Given the description of an element on the screen output the (x, y) to click on. 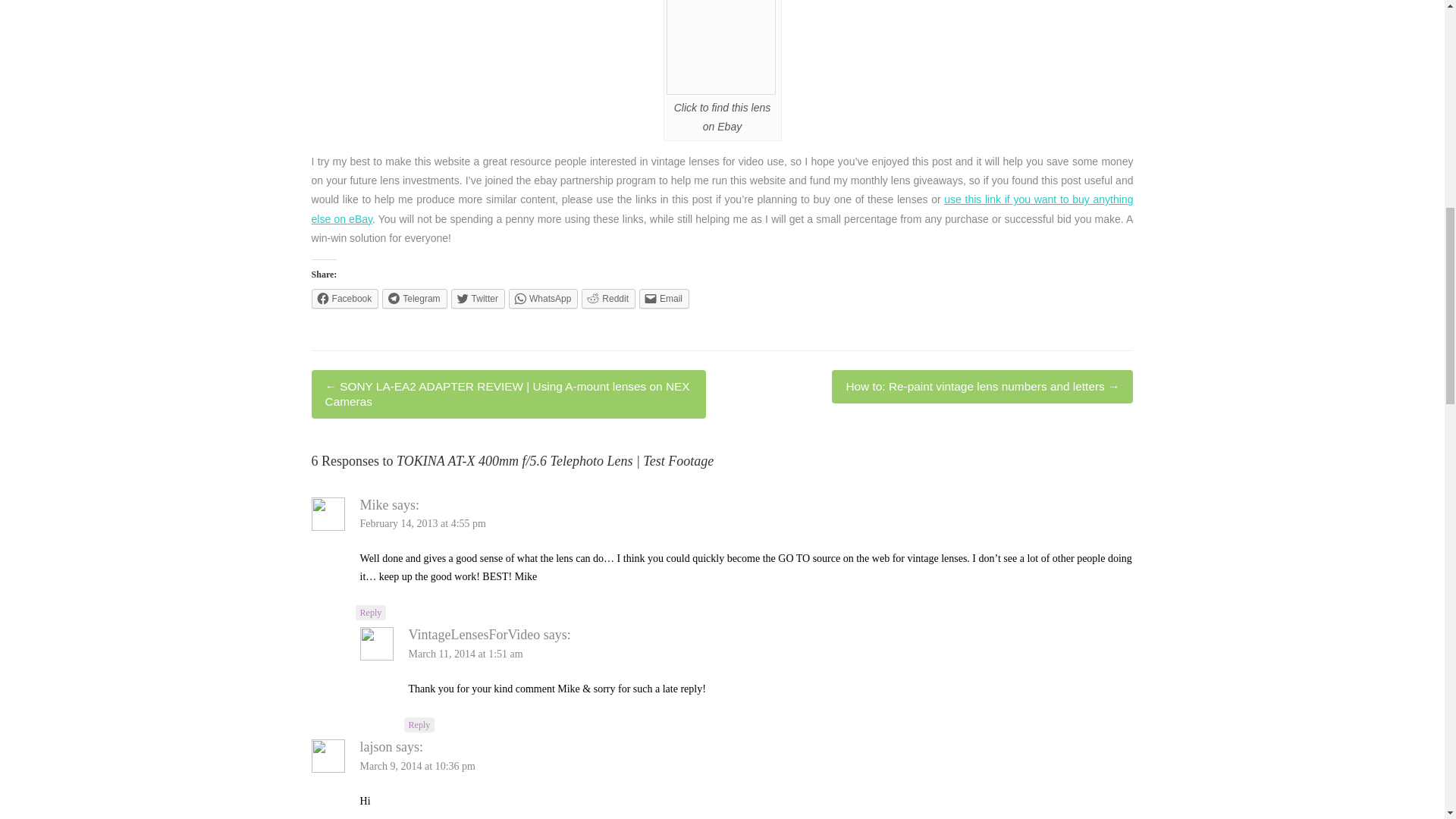
Mike (373, 504)
Click to share on WhatsApp (543, 298)
Twitter (478, 298)
March 9, 2014 at 10:36 pm (417, 766)
February 14, 2013 at 4:55 pm (422, 523)
Reply (419, 724)
March 11, 2014 at 1:51 am (465, 654)
Email (663, 298)
WhatsApp (543, 298)
Reddit (607, 298)
Click to share on Telegram (413, 298)
Click to email this to a friend (663, 298)
Telegram (413, 298)
Click to share on Twitter (478, 298)
Click to share on Facebook (344, 298)
